Given the description of an element on the screen output the (x, y) to click on. 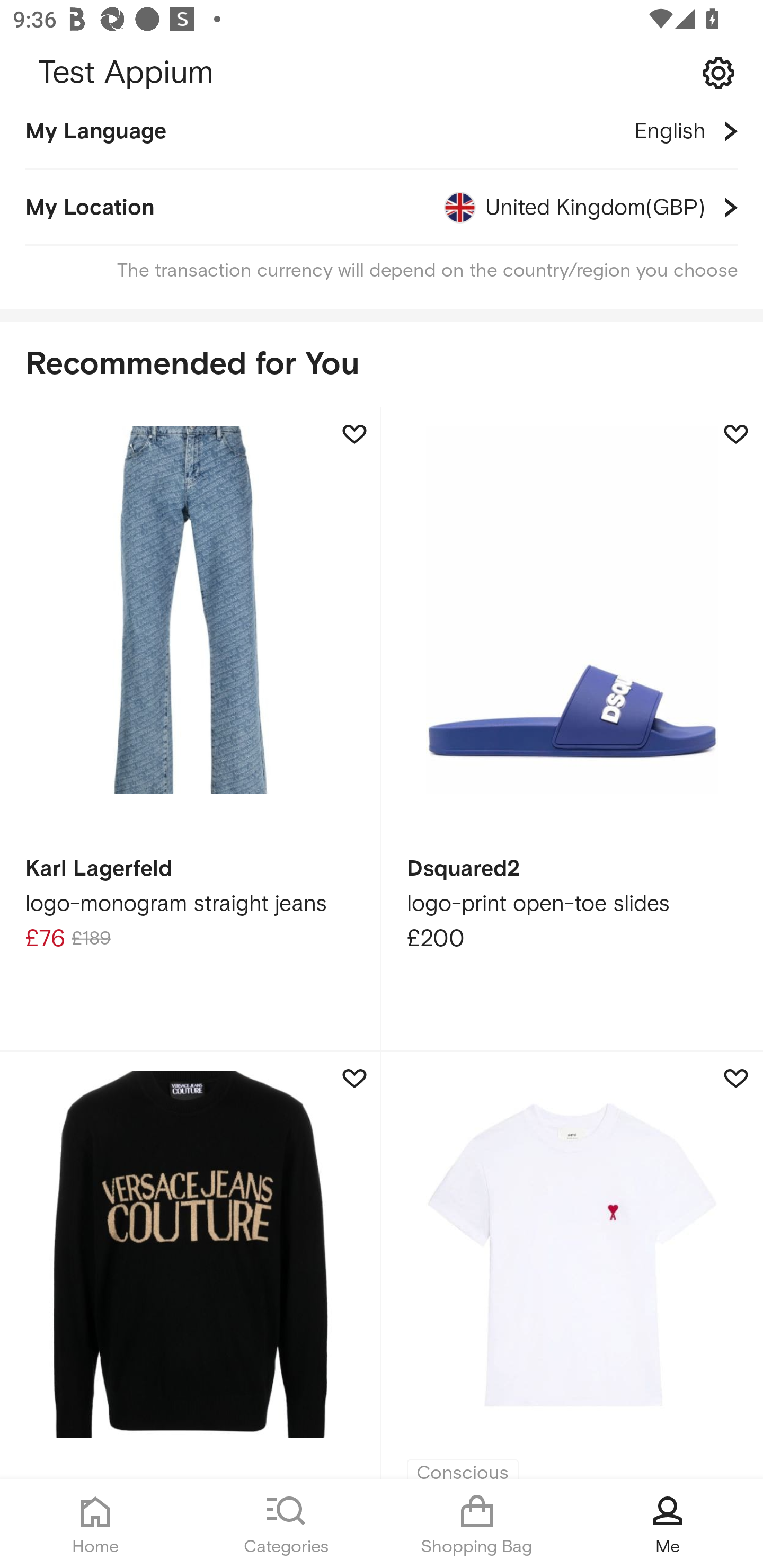
Test Appium (381, 72)
My Language English (381, 140)
My Location United Kingdom(GBP) (381, 207)
Dsquared2 logo-print open-toe slides £200 (572, 729)
Conscious (572, 1265)
Home (95, 1523)
Categories (285, 1523)
Shopping Bag (476, 1523)
